Given the description of an element on the screen output the (x, y) to click on. 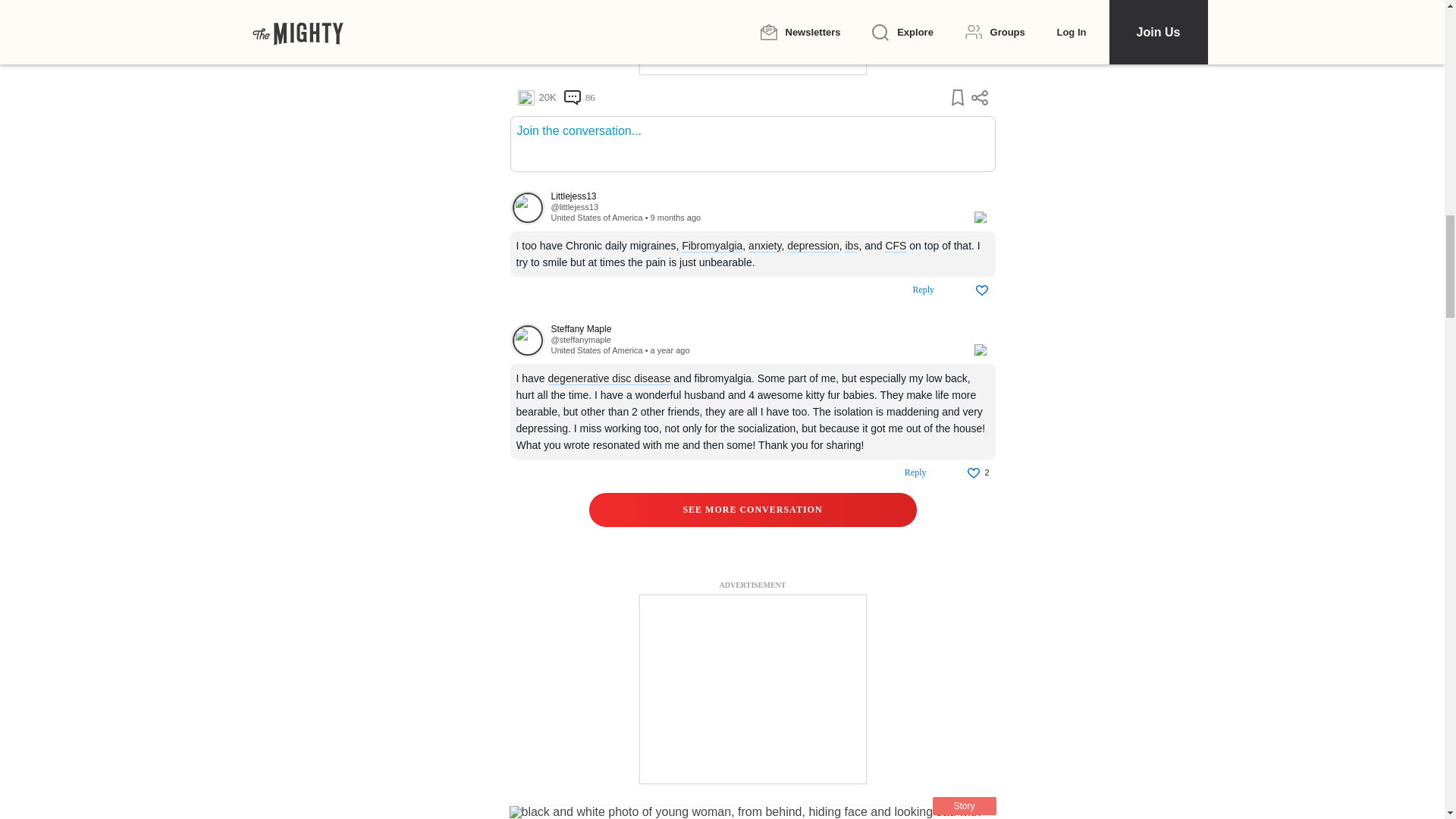
Fibromyalgia (711, 245)
CFS (895, 245)
20K (536, 97)
ibs (851, 245)
View their profile (574, 206)
View their profile (754, 196)
View their profile (526, 207)
depression (813, 245)
anxiety (764, 245)
